Given the description of an element on the screen output the (x, y) to click on. 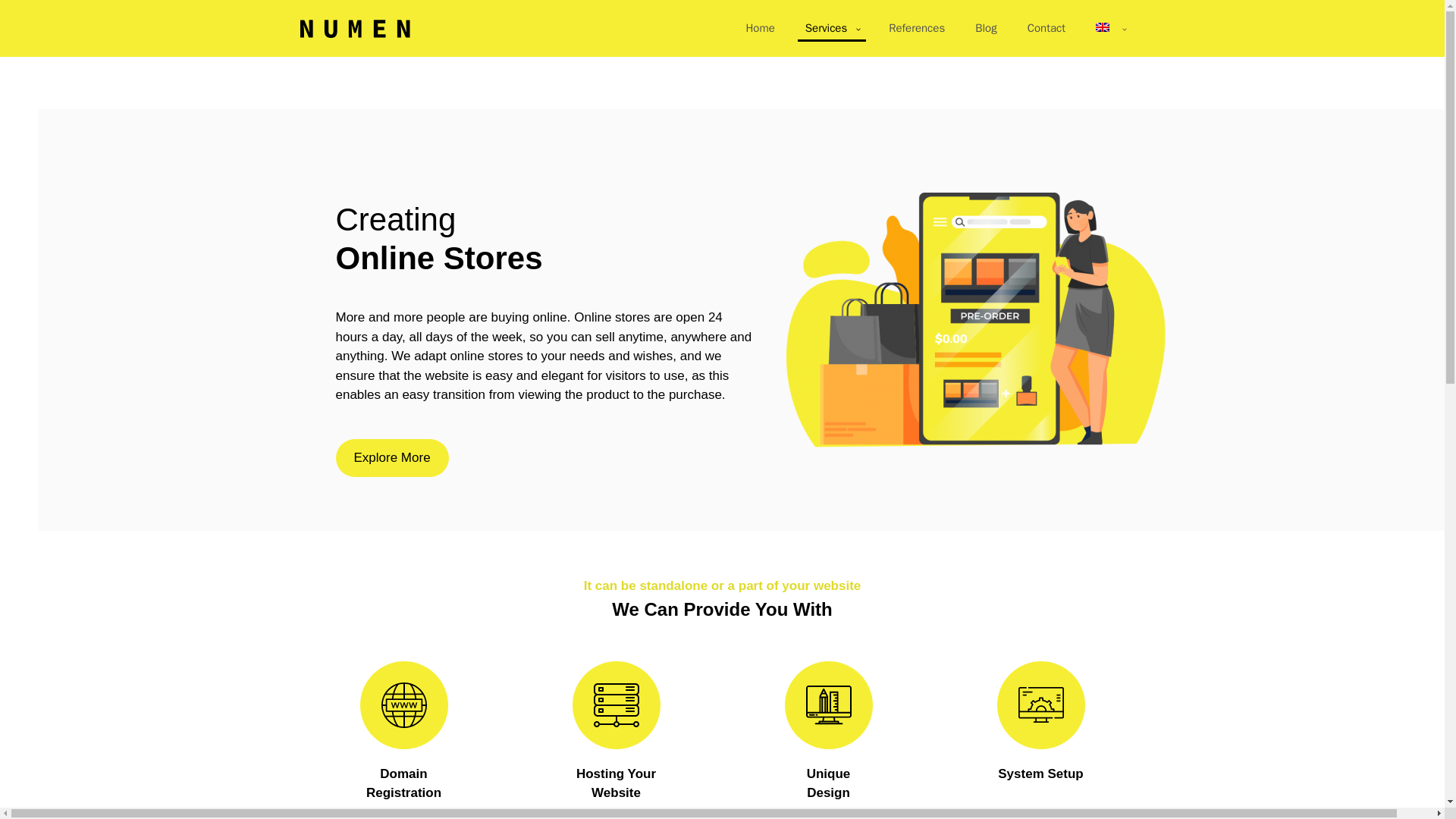
Group 565 (976, 319)
Blog (986, 28)
Contact (1046, 28)
Home (759, 28)
References (916, 28)
Services (831, 28)
Explore More (391, 457)
